Given the description of an element on the screen output the (x, y) to click on. 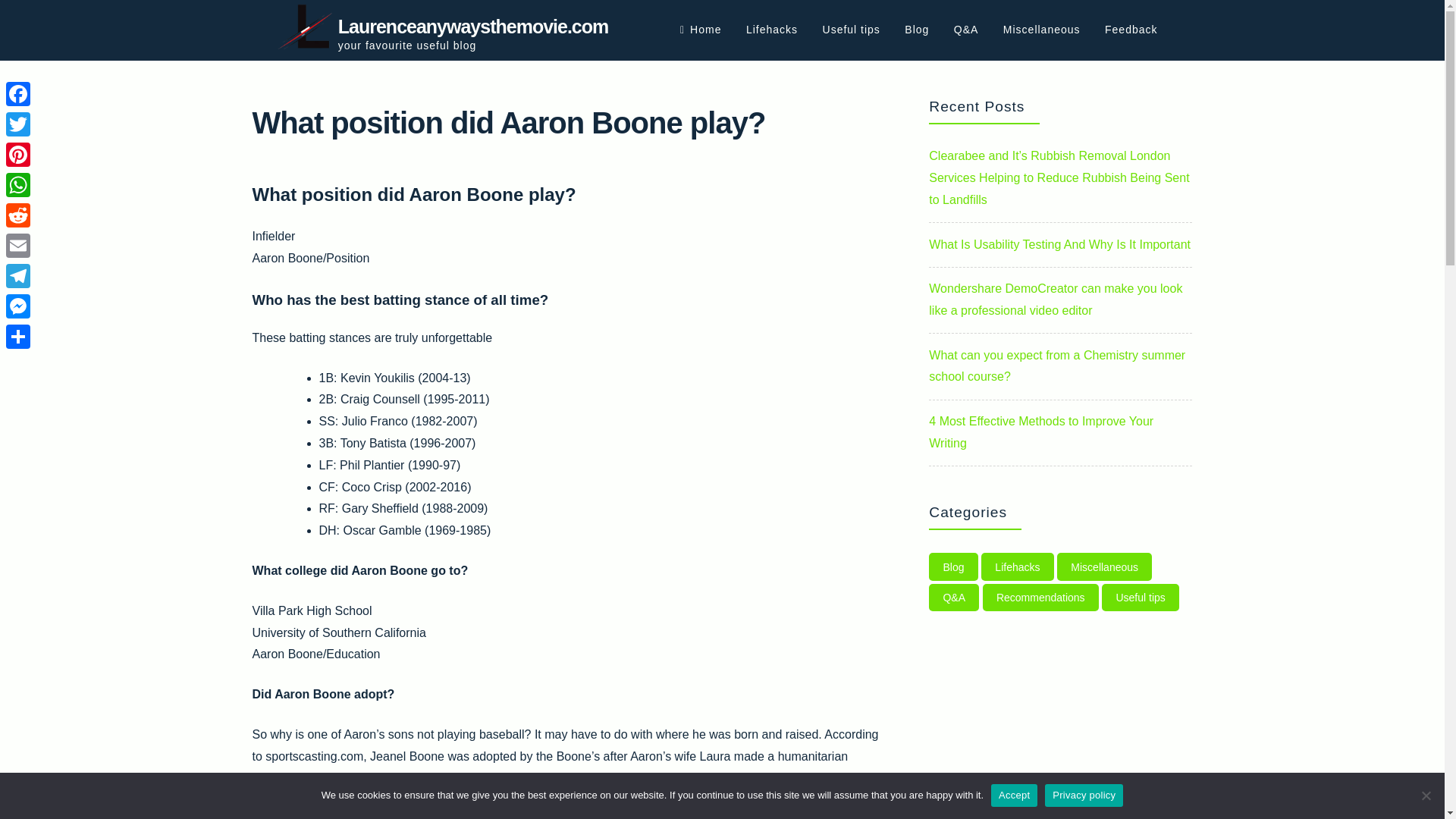
Messenger (17, 306)
Facebook (17, 93)
Recommendations (1040, 596)
What Is Usability Testing And Why Is It Important (1059, 244)
Lifehacks (1017, 565)
Lifehacks (771, 30)
4 Most Effective Methods to Improve Your Writing (1040, 431)
Email (17, 245)
Miscellaneous (1104, 565)
Reddit (17, 214)
Pinterest (17, 154)
What can you expect from a Chemistry summer school course? (1056, 366)
Useful tips (1140, 596)
WhatsApp (17, 184)
Feedback (1131, 30)
